Given the description of an element on the screen output the (x, y) to click on. 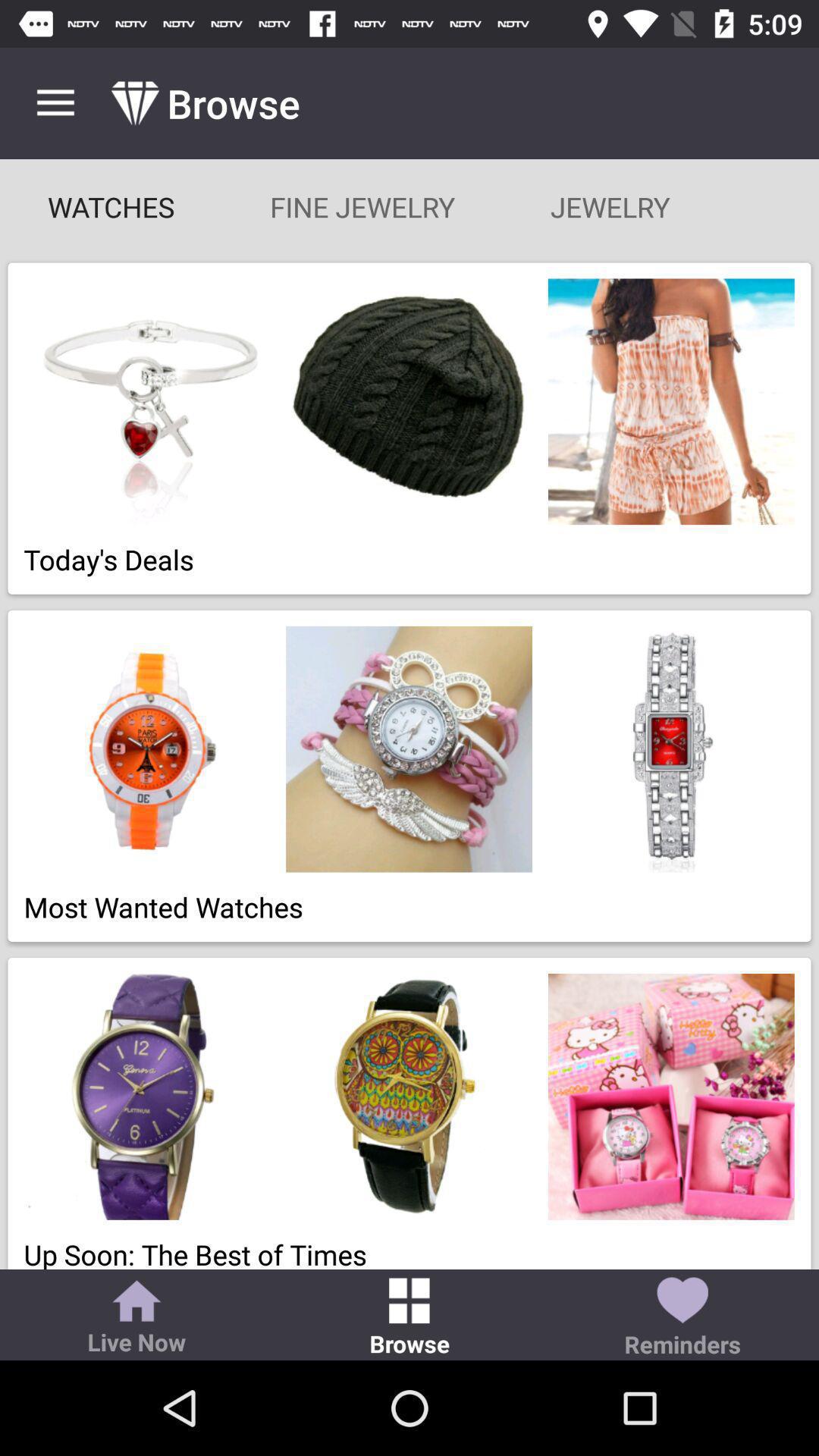
scroll to live now item (136, 1318)
